Given the description of an element on the screen output the (x, y) to click on. 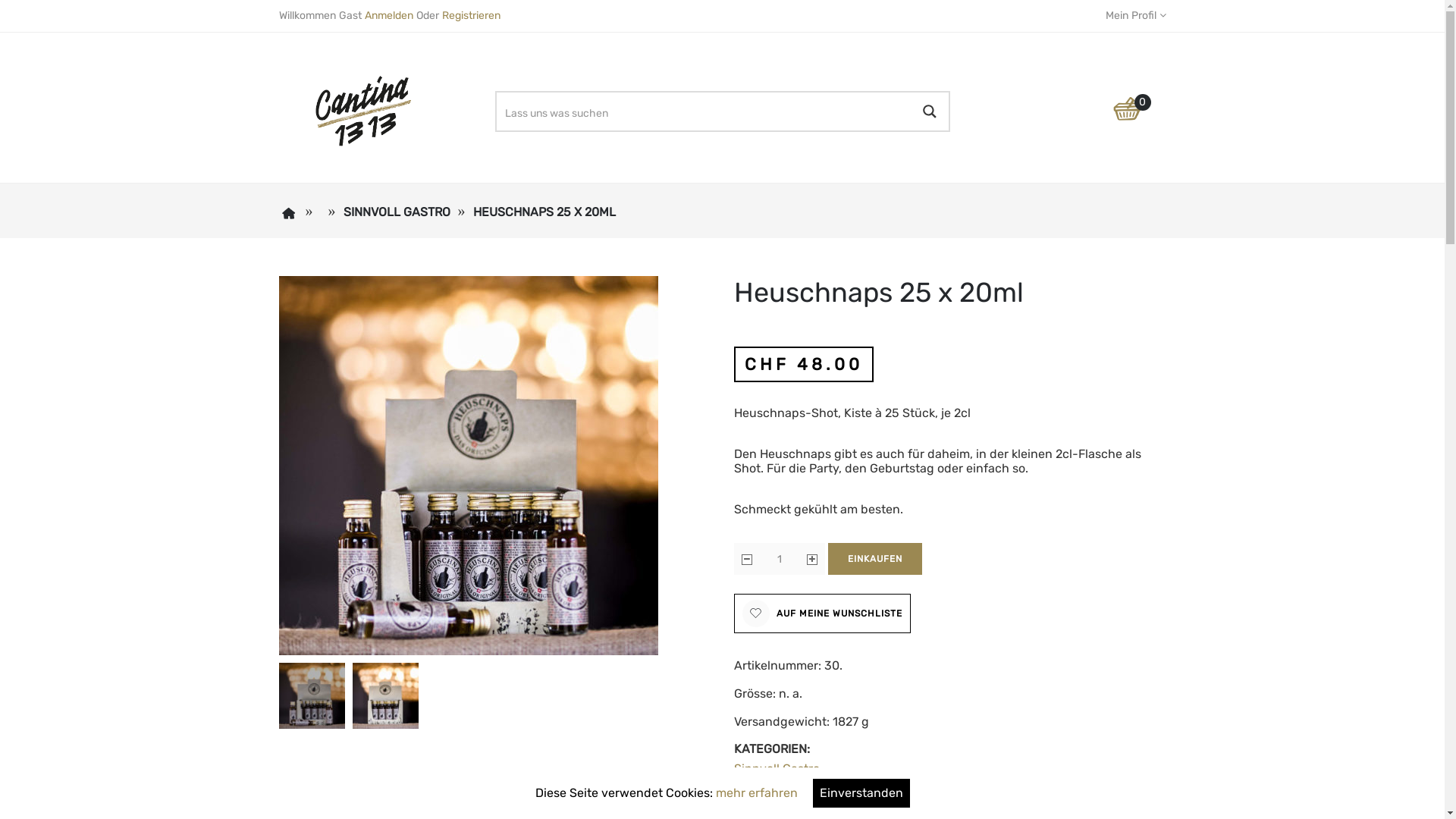
AGBs Element type: text (747, 643)
heuschnaps-shot-box Element type: hover (312, 695)
AUF MEINE WUNSCHLISTE Element type: text (821, 613)
Impressum Element type: text (760, 620)
Anmelden Element type: text (388, 15)
SINNVOLL GASTRO Element type: text (395, 211)
heuschnaps-shot-box Element type: hover (468, 465)
Cantina 1313 Element type: text (327, 753)
Einverstanden Element type: text (861, 792)
Sinnvoll Gastro Element type: text (776, 768)
Kontakt Element type: text (524, 620)
FAQs Element type: text (518, 643)
mehr erfahren Element type: text (756, 792)
0 Element type: text (1136, 123)
hoi@cantina1313.ch Element type: text (1046, 682)
Registrieren Element type: text (470, 15)
Abschicken Element type: text (914, 476)
Datenschutz Element type: text (765, 667)
EINKAUFEN Element type: text (875, 558)
Menge Element type: hover (779, 558)
